Given the description of an element on the screen output the (x, y) to click on. 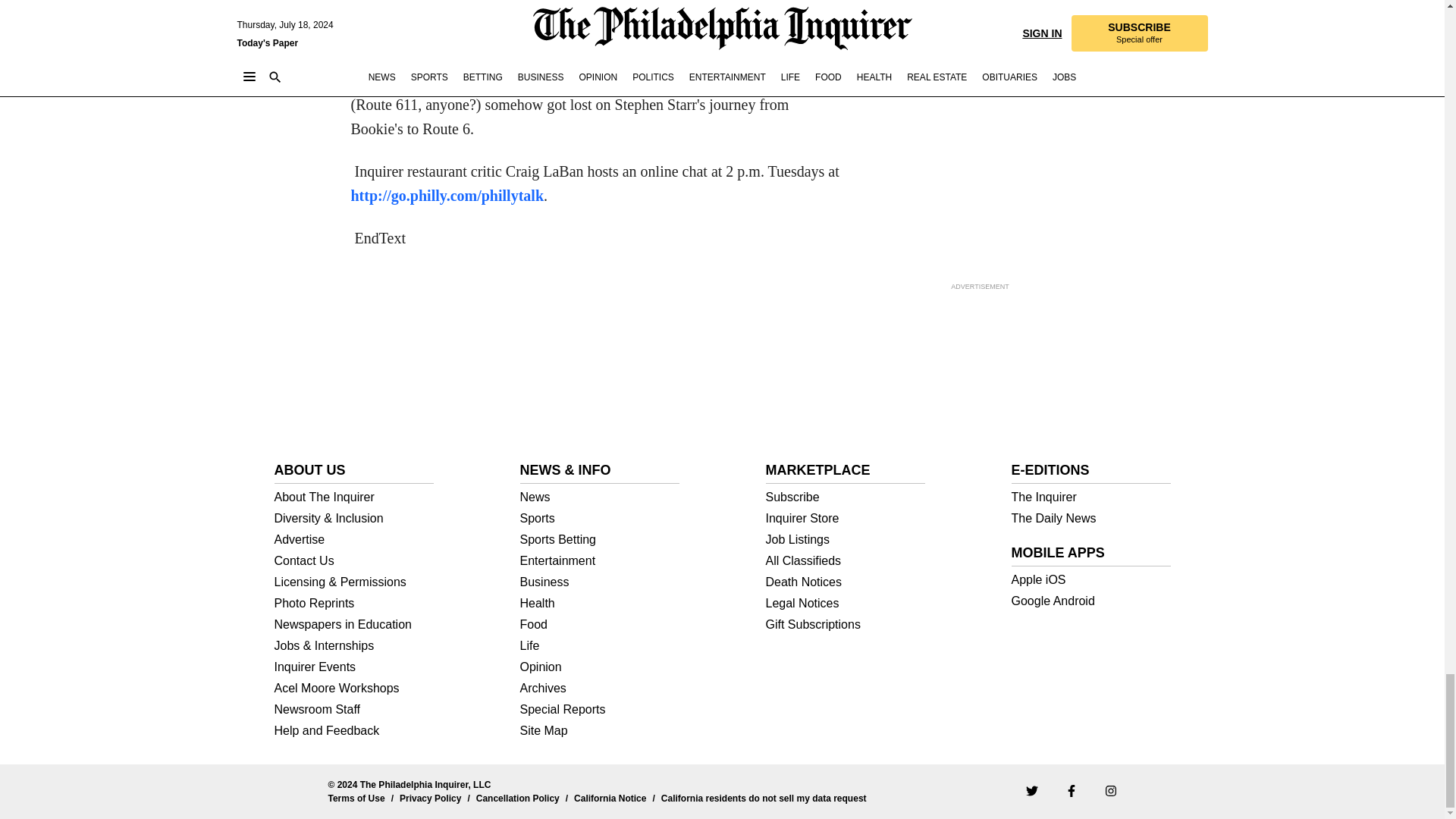
About The Inquirer (354, 497)
Advertise (354, 539)
Twitter (1030, 790)
Facebook (1070, 790)
Instagram (1109, 790)
Contact Us (354, 561)
